Given the description of an element on the screen output the (x, y) to click on. 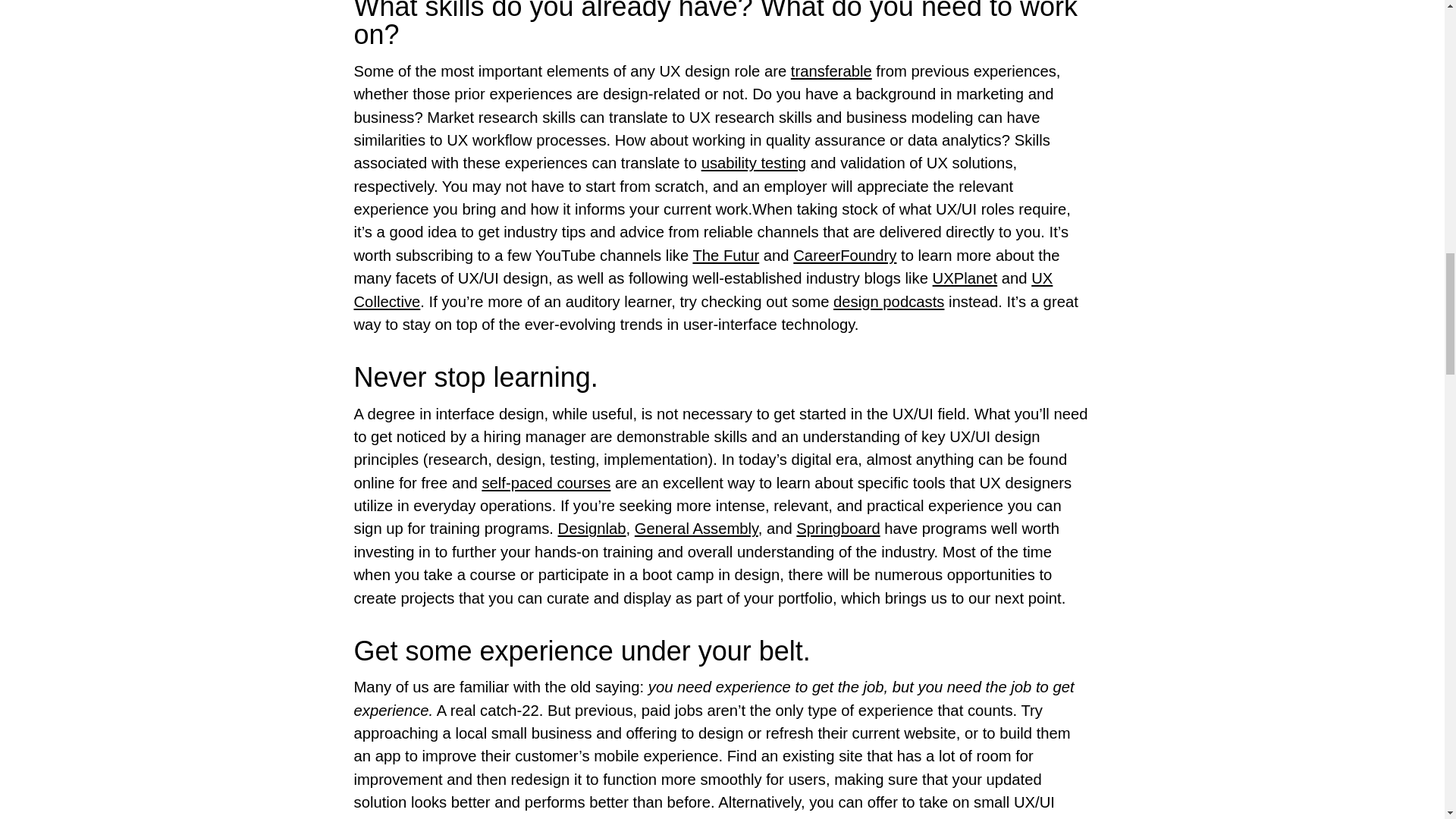
self-paced courses (545, 483)
General Assembly (696, 528)
usability testing (753, 162)
UXPlanet (965, 278)
CareerFoundry (844, 255)
UX Collective (702, 289)
Springboard (837, 528)
Designlab (591, 528)
The Futur (725, 255)
design podcasts (887, 301)
transferable (831, 71)
